Given the description of an element on the screen output the (x, y) to click on. 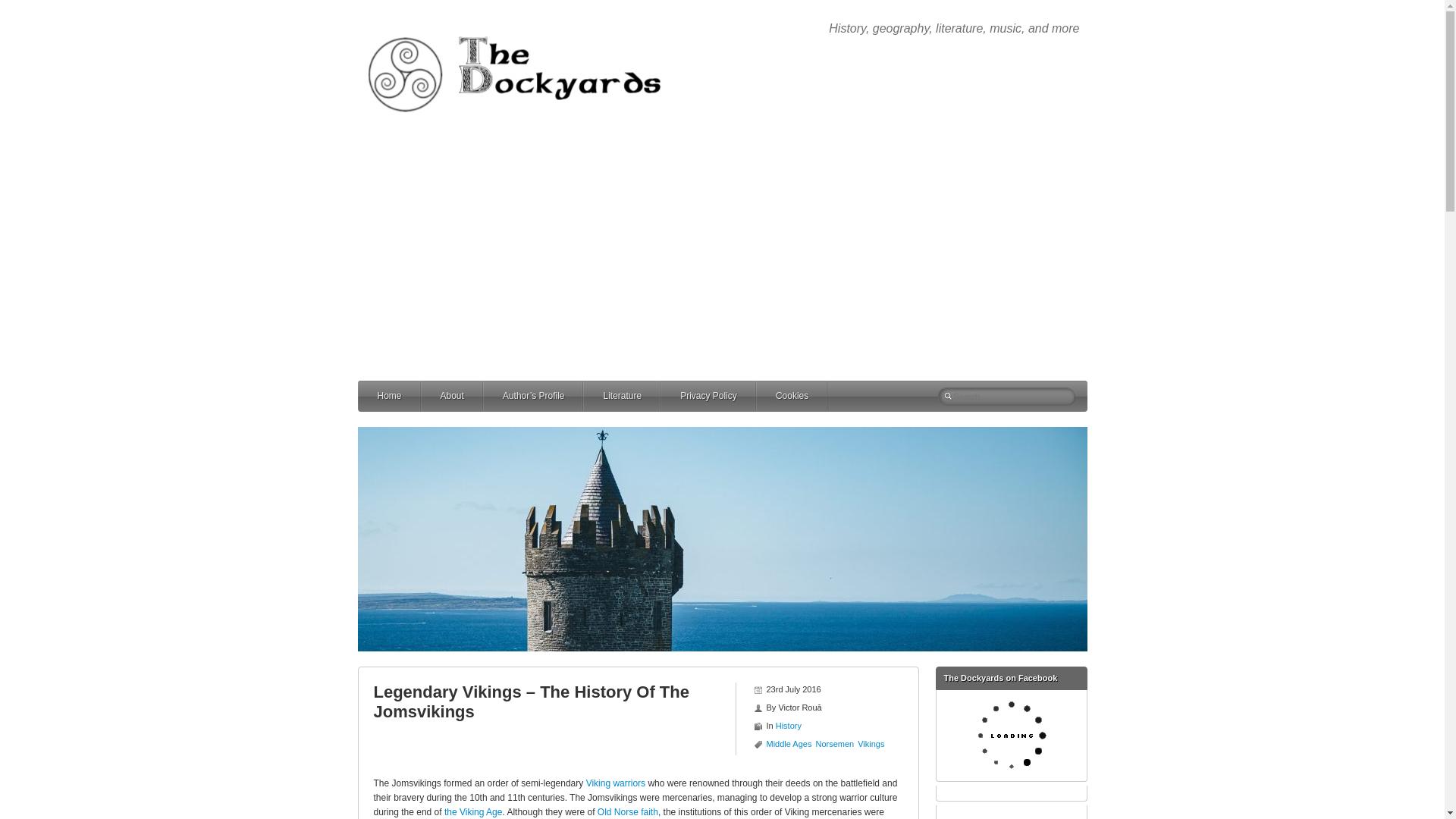
Norsemen (834, 743)
The Dockyards (525, 25)
Middle Ages (787, 743)
Home (408, 395)
Privacy Policy (727, 395)
History (789, 725)
Search (24, 8)
Cookies (810, 395)
About (471, 395)
Viking warriors (615, 783)
